Given the description of an element on the screen output the (x, y) to click on. 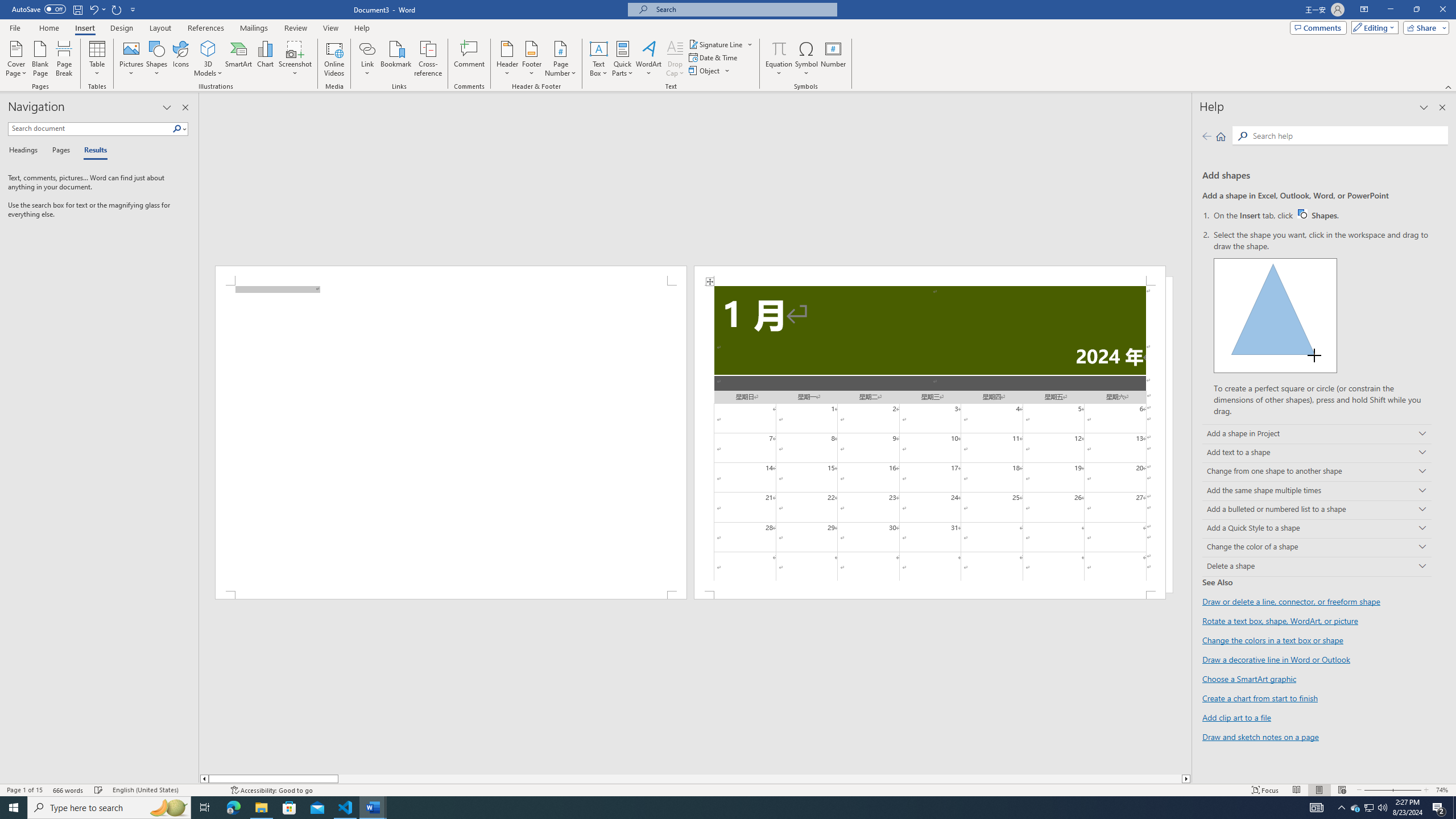
Home (48, 28)
Pages (59, 150)
Page right (759, 778)
Change from one shape to another shape (1316, 471)
View (330, 28)
Page 1 content (451, 438)
Read Mode (1296, 790)
Quick Parts (622, 58)
Pictures (131, 58)
Comments (1318, 27)
Equation (778, 58)
Rotate a text box, shape, WordArt, or picture (1280, 620)
Header (507, 58)
Minimize (1390, 9)
Home (1220, 136)
